Given the description of an element on the screen output the (x, y) to click on. 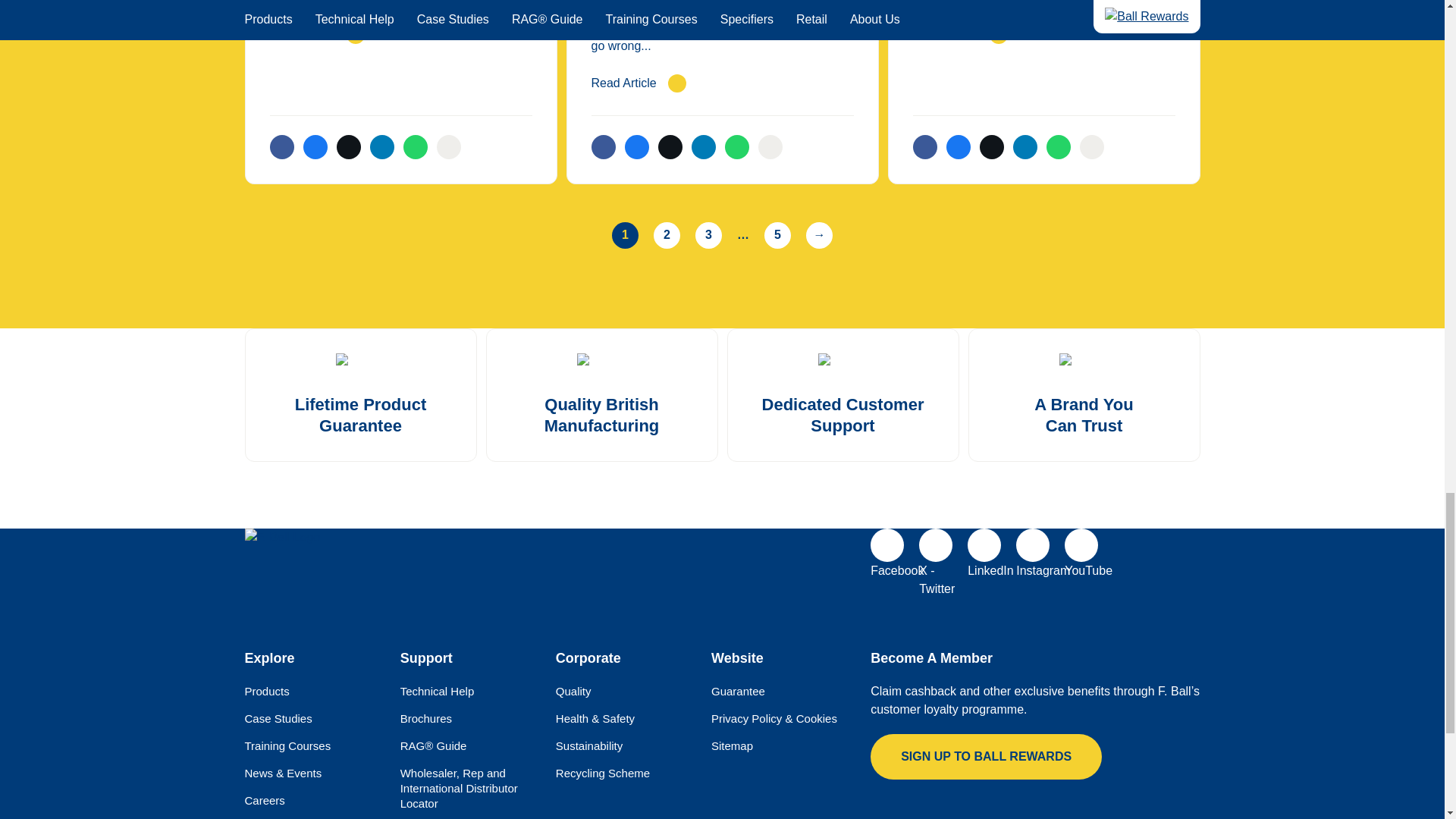
Read Handling the Heat (1043, 34)
LinkedIn (984, 544)
YouTube (1080, 544)
Instagram (1032, 544)
Facebook (887, 544)
Read Dealing with lignite (400, 34)
X - Twitter (935, 544)
